Given the description of an element on the screen output the (x, y) to click on. 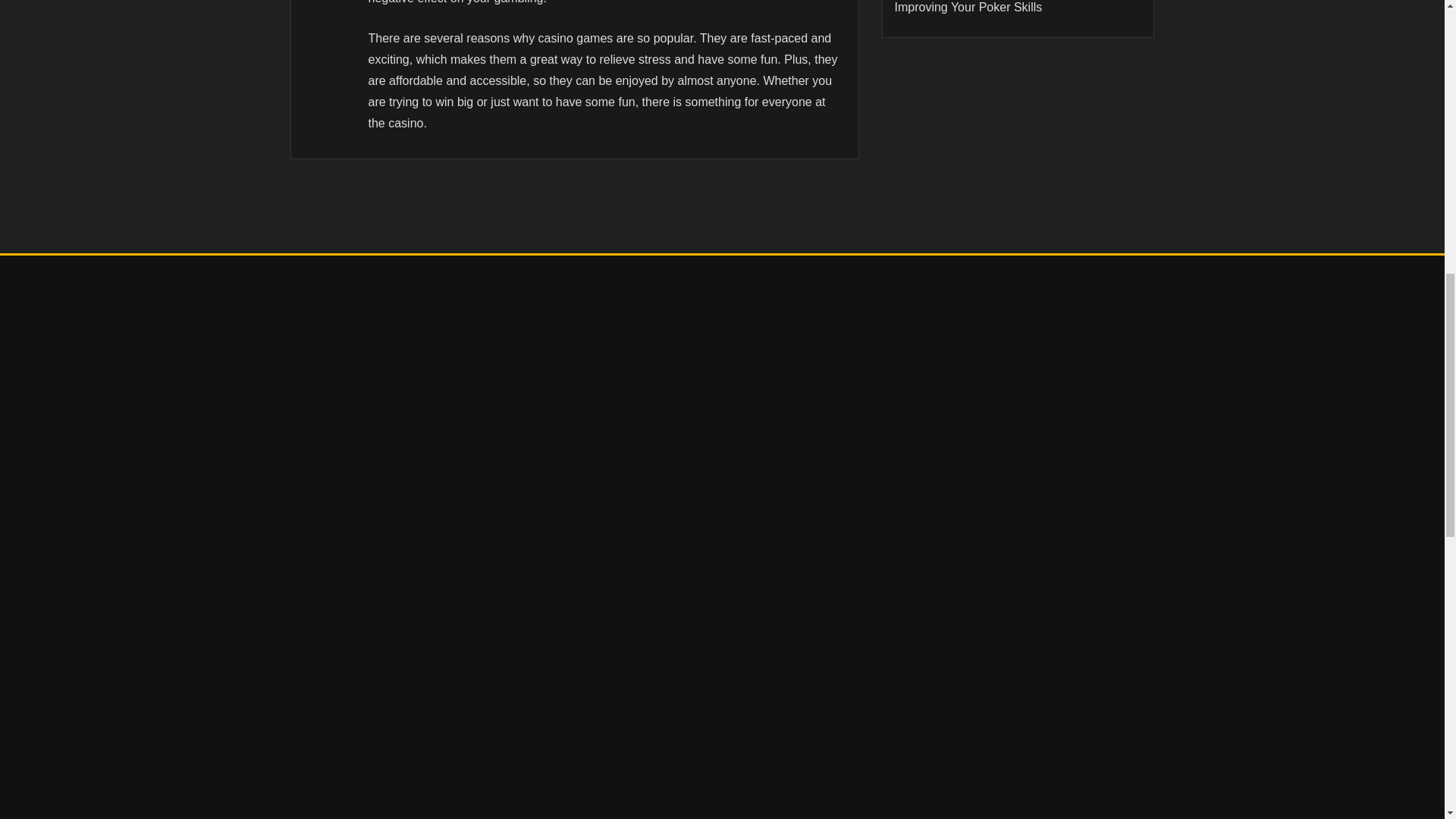
Improving Your Poker Skills (968, 6)
